Given the description of an element on the screen output the (x, y) to click on. 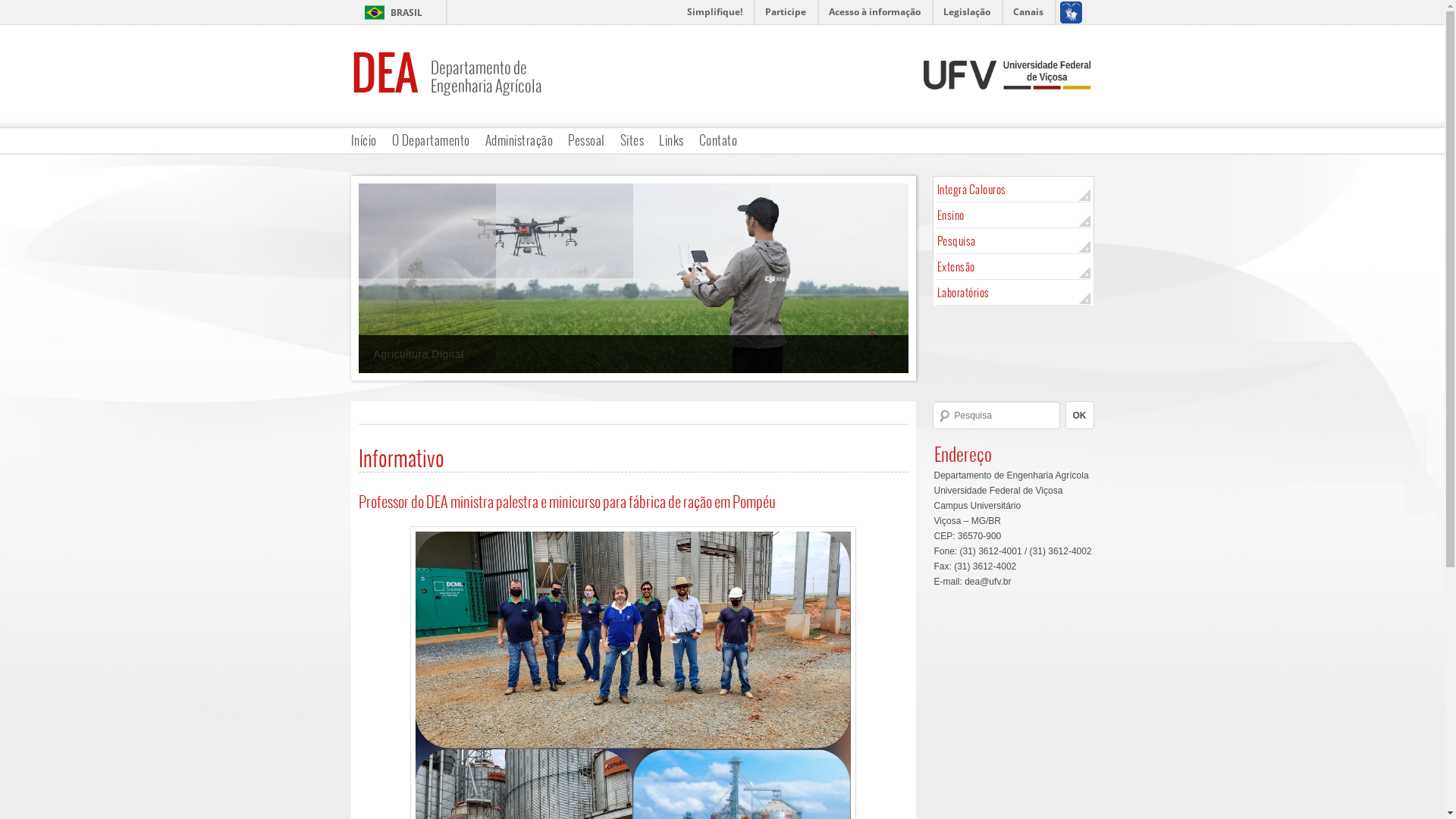
OK Element type: text (1078, 415)
Contato Element type: text (718, 139)
Pesquisa Element type: text (1014, 241)
O Departamento Element type: text (430, 139)
Ensino Element type: text (1014, 215)
Sites Element type: text (632, 139)
Integra Calouros Element type: text (1014, 189)
Links Element type: text (671, 139)
Pessoal Element type: text (586, 139)
BRASIL Element type: text (389, 12)
